Given the description of an element on the screen output the (x, y) to click on. 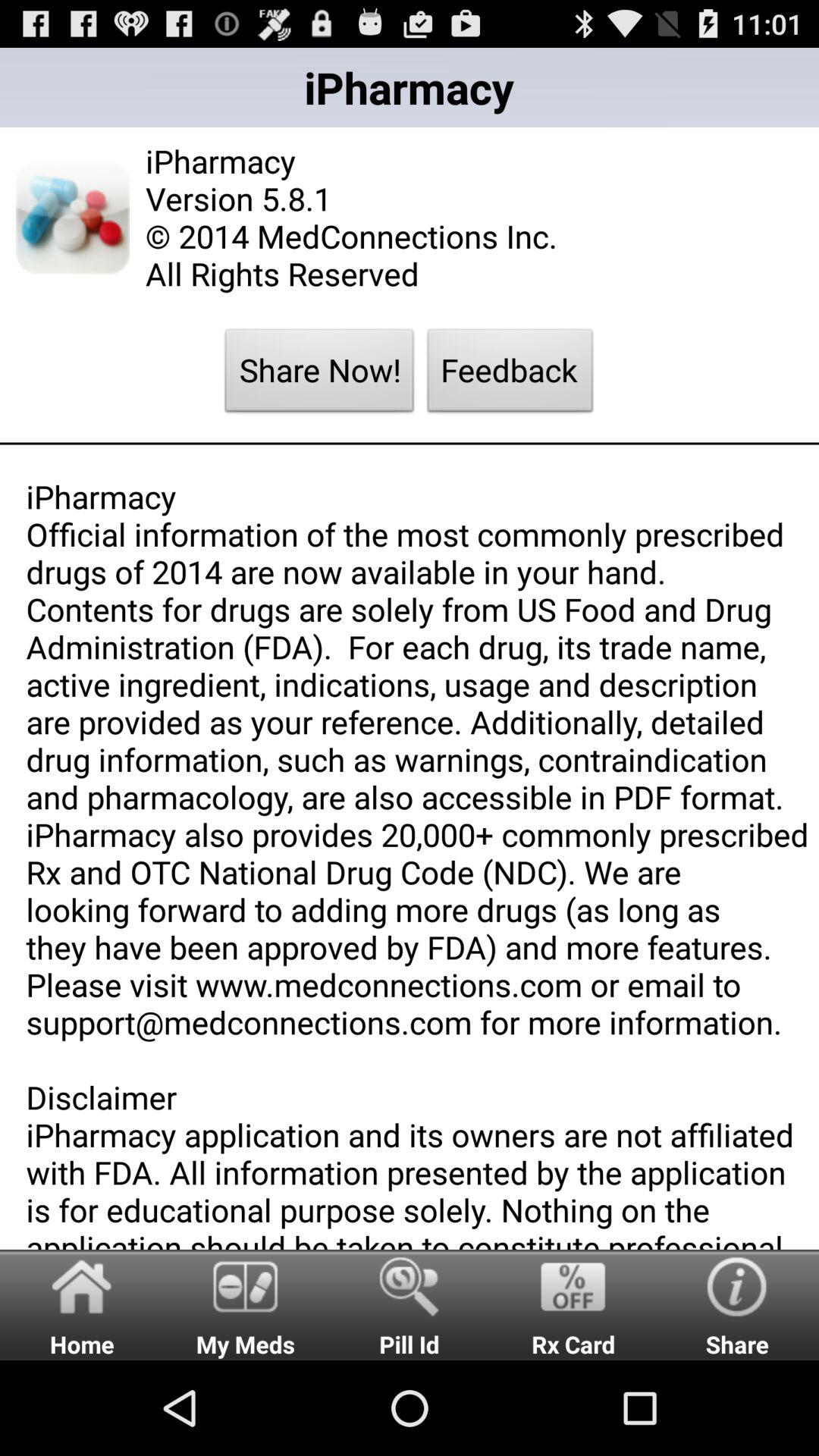
click item to the right of pill id radio button (573, 1304)
